Given the description of an element on the screen output the (x, y) to click on. 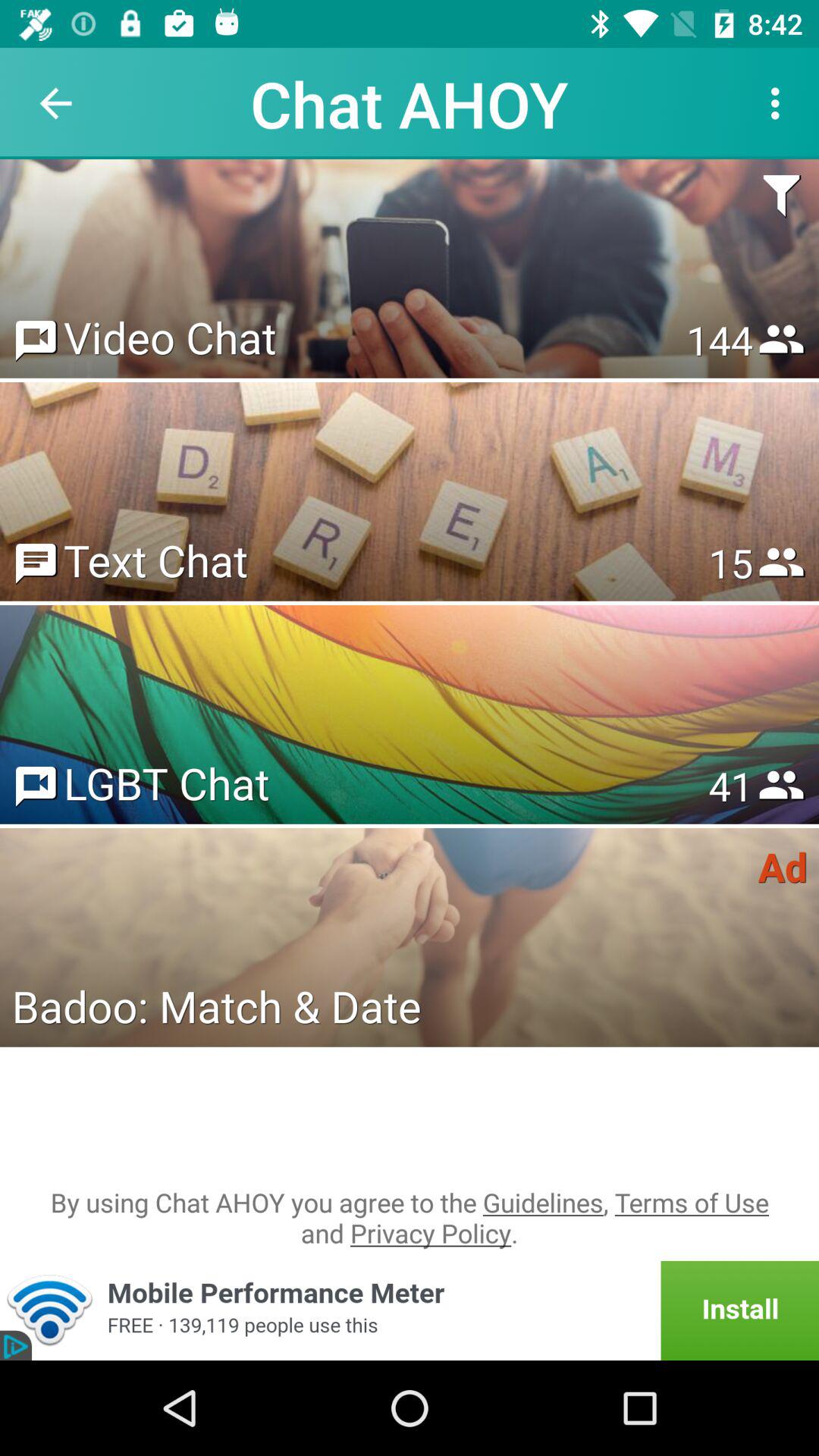
press the 53 item (730, 785)
